Given the description of an element on the screen output the (x, y) to click on. 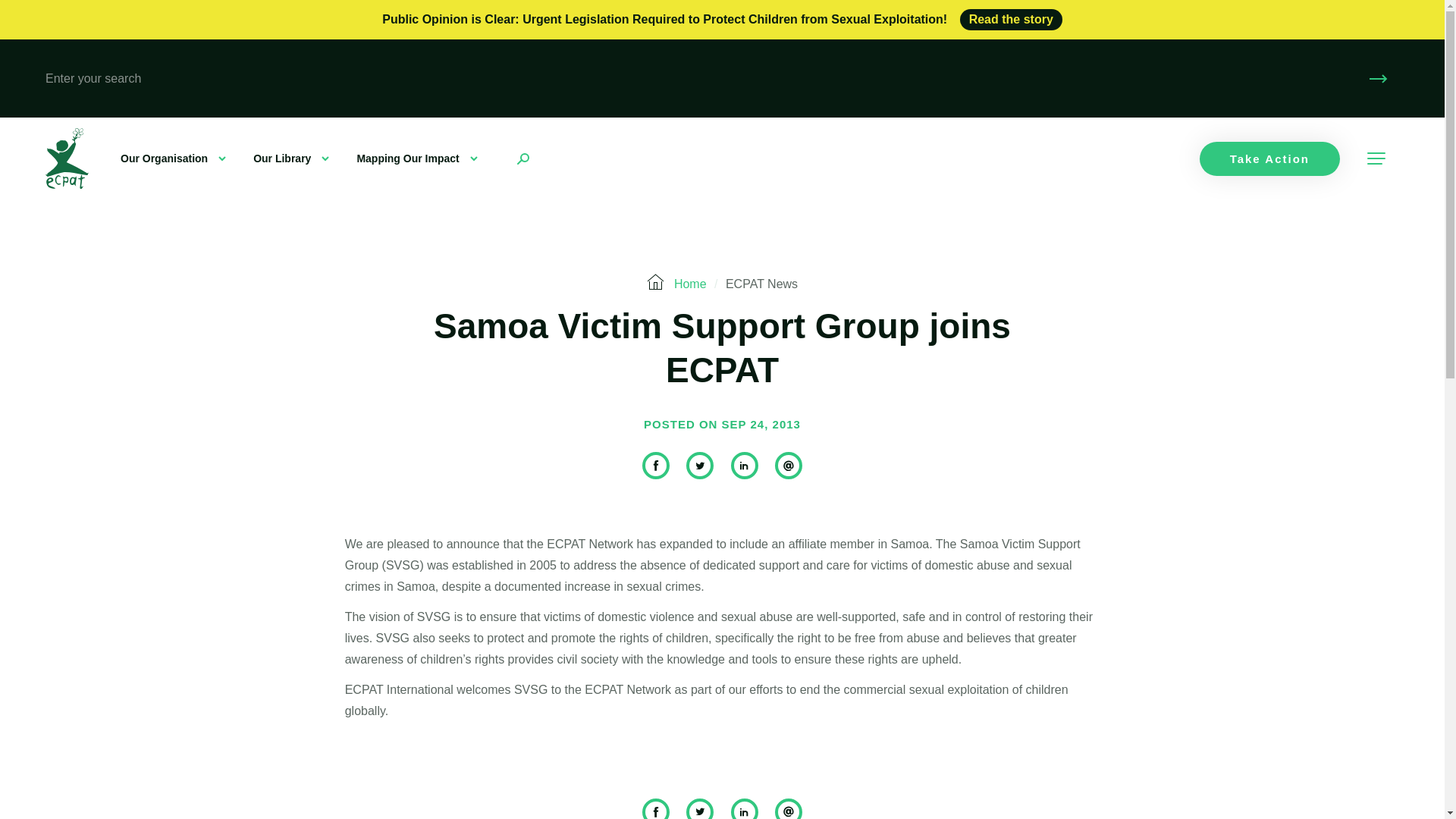
Search (1378, 78)
Our Library (291, 158)
Mapping Our Impact (416, 158)
Read the story (1010, 19)
Search (1378, 78)
Home (690, 283)
Our Organisation (172, 158)
Take Action (1269, 157)
